Given the description of an element on the screen output the (x, y) to click on. 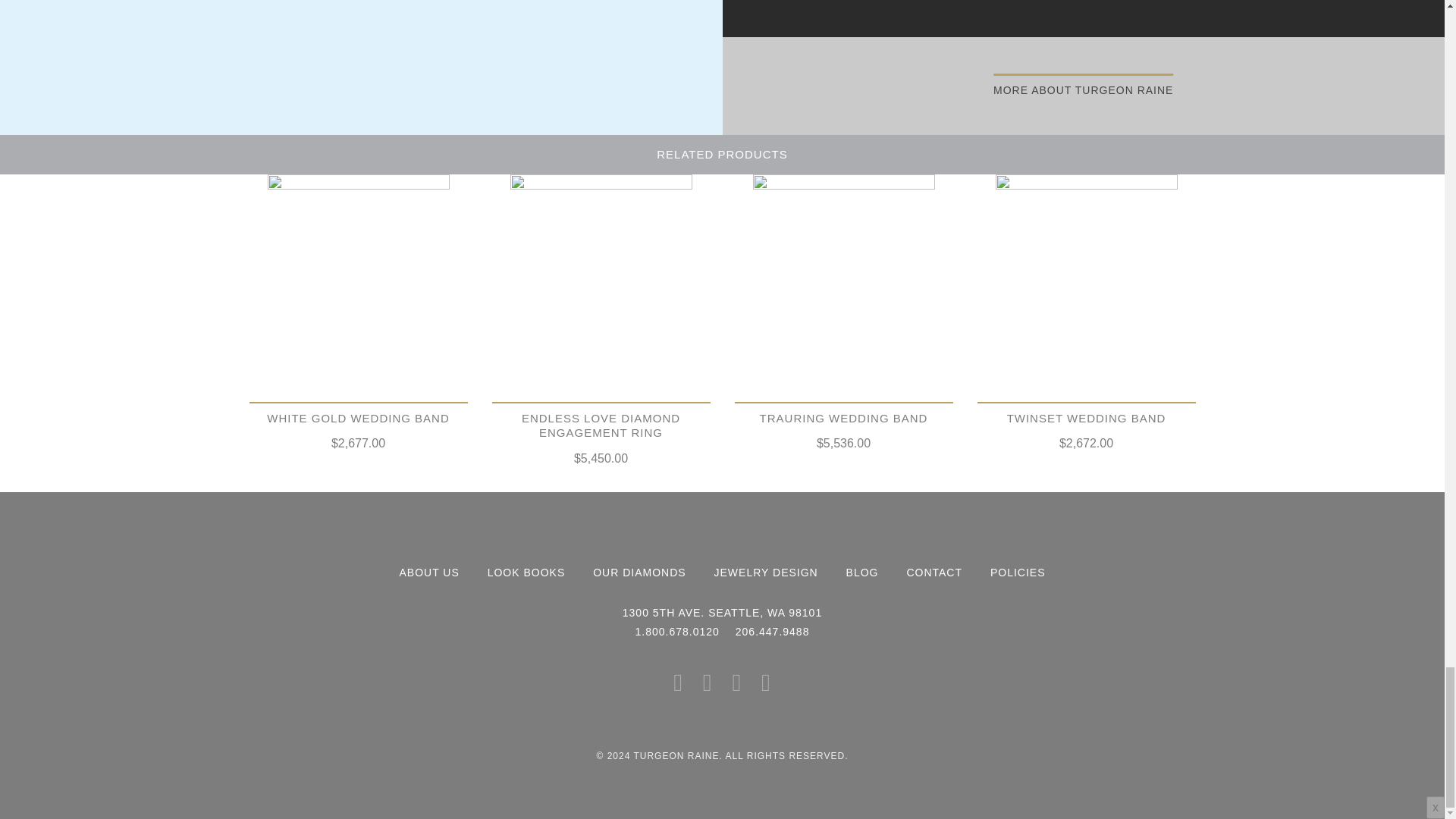
LOOK BOOKS (526, 572)
MORE ABOUT TURGEON RAINE (1082, 85)
BLOG (862, 572)
JEWELRY DESIGN (766, 572)
CONTACT (933, 572)
ABOUT US (428, 572)
OUR DIAMONDS (638, 572)
